Given the description of an element on the screen output the (x, y) to click on. 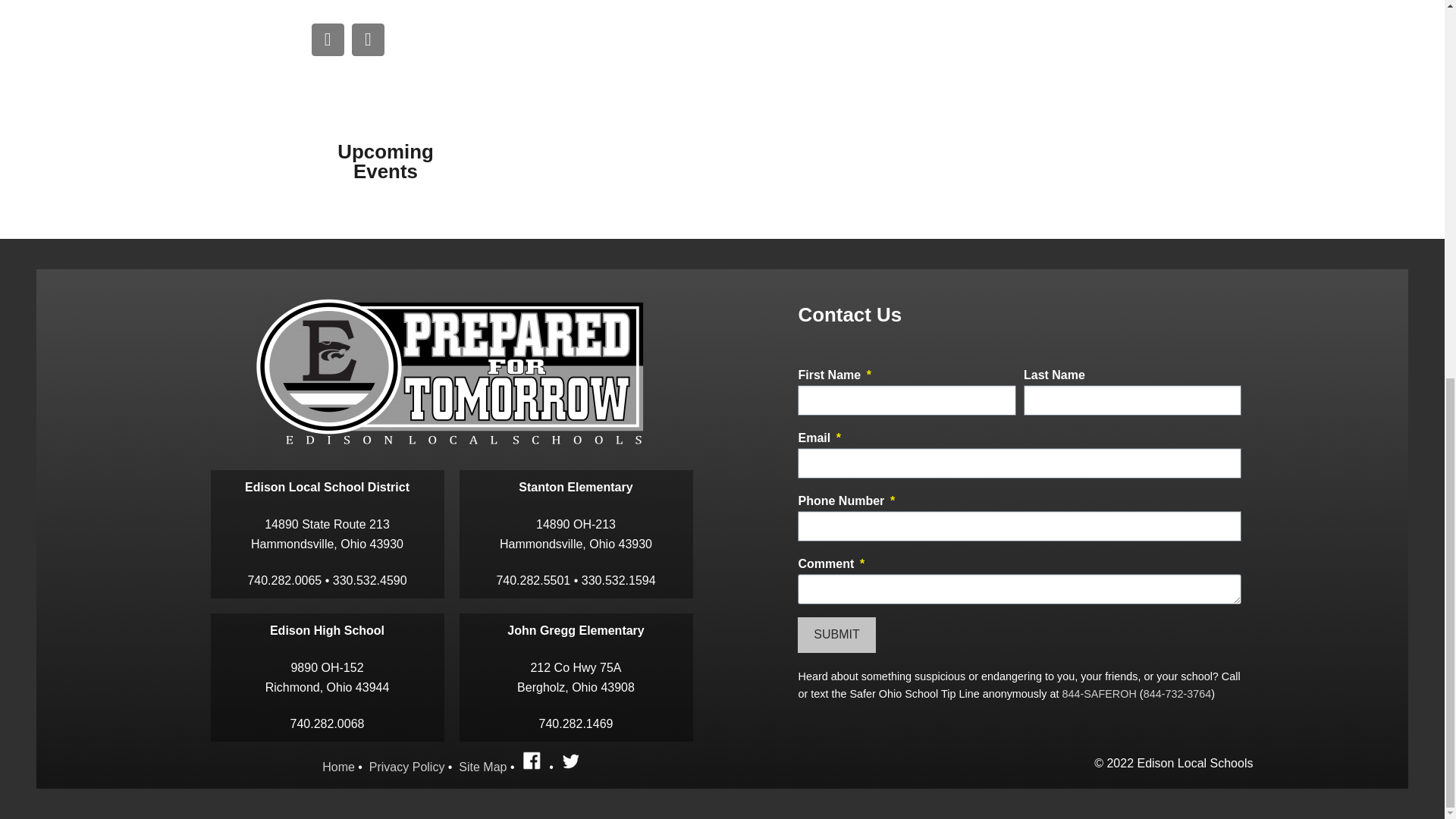
Edison Logo White Text (451, 371)
